Given the description of an element on the screen output the (x, y) to click on. 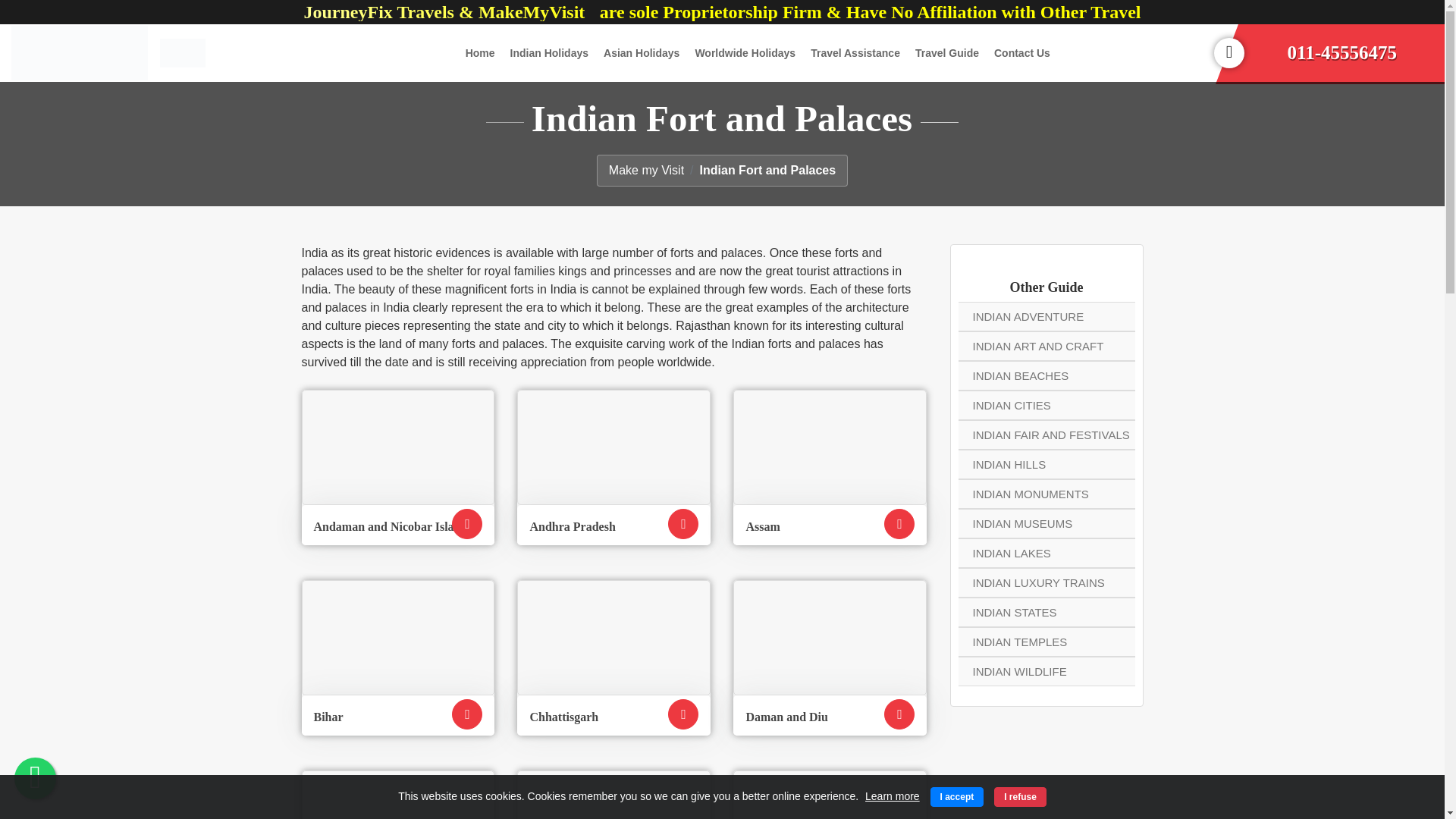
Asian Holidays (641, 52)
Travel Assistance (855, 52)
Travel Guide (947, 52)
Go to Make my Visit. (654, 169)
Indian Holidays (548, 52)
Worldwide Holidays (745, 52)
